Given the description of an element on the screen output the (x, y) to click on. 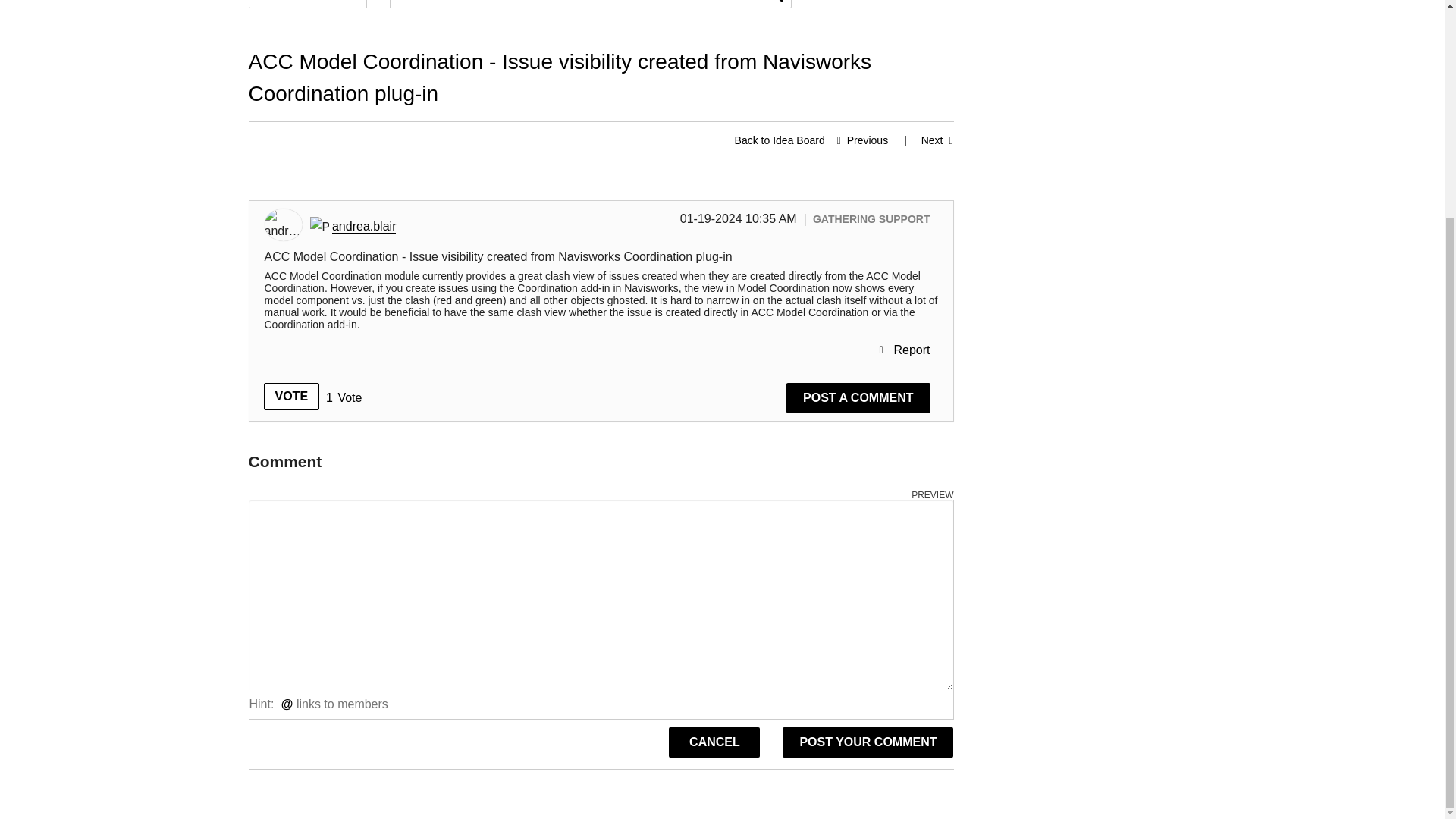
VOTE (291, 396)
Post Your Comment (868, 742)
GATHERING SUPPORT (871, 218)
PREVIEW (932, 494)
andrea.blair (363, 226)
Participant (318, 227)
POST A COMMENT (858, 398)
Click here to see who gave votes to this post. (343, 397)
ACC Ideas (779, 140)
Search (591, 4)
Cancel (714, 742)
Back to Idea Board (779, 140)
Actions after reviewing a file. (920, 140)
1 Vote (343, 397)
Cancel (714, 742)
